Given the description of an element on the screen output the (x, y) to click on. 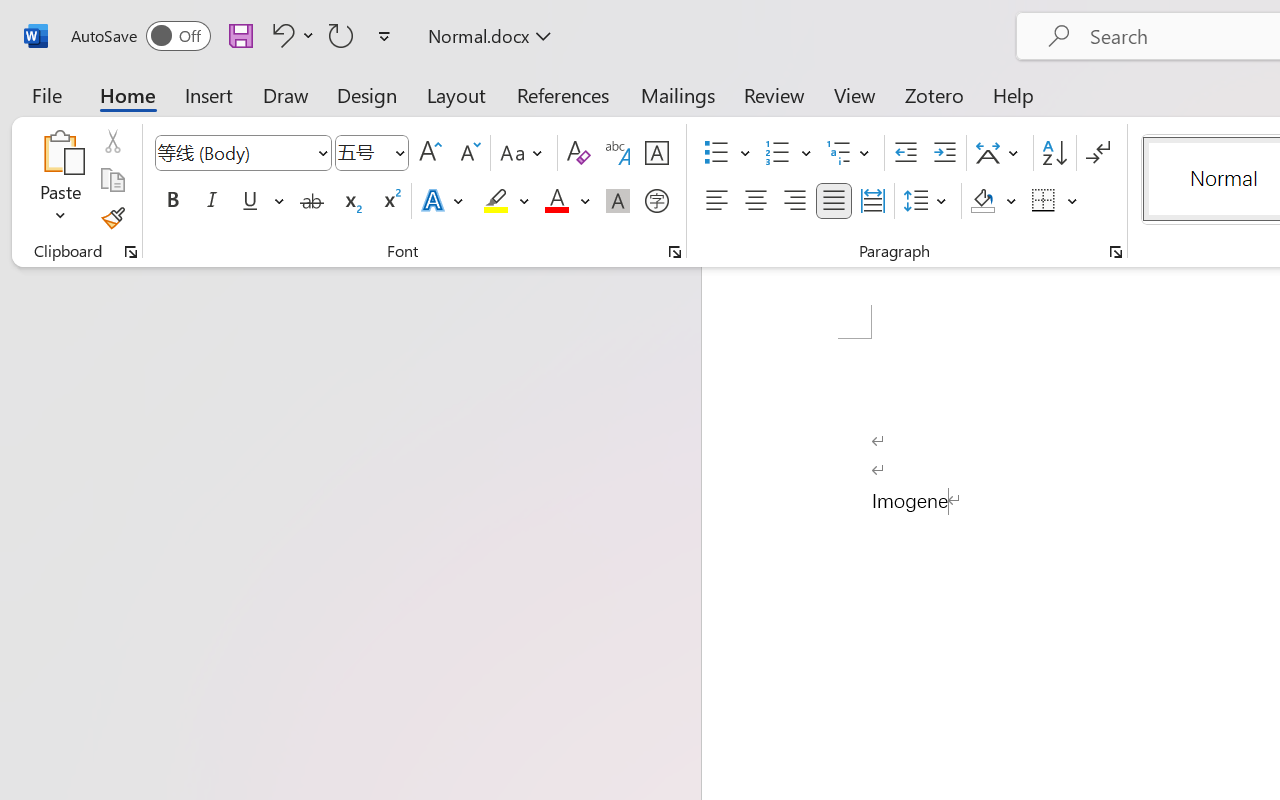
Font... (675, 252)
Increase Indent (944, 153)
Sort... (1054, 153)
Cut (112, 141)
Open (399, 152)
Repeat Style (341, 35)
Office Clipboard... (131, 252)
